Given the description of an element on the screen output the (x, y) to click on. 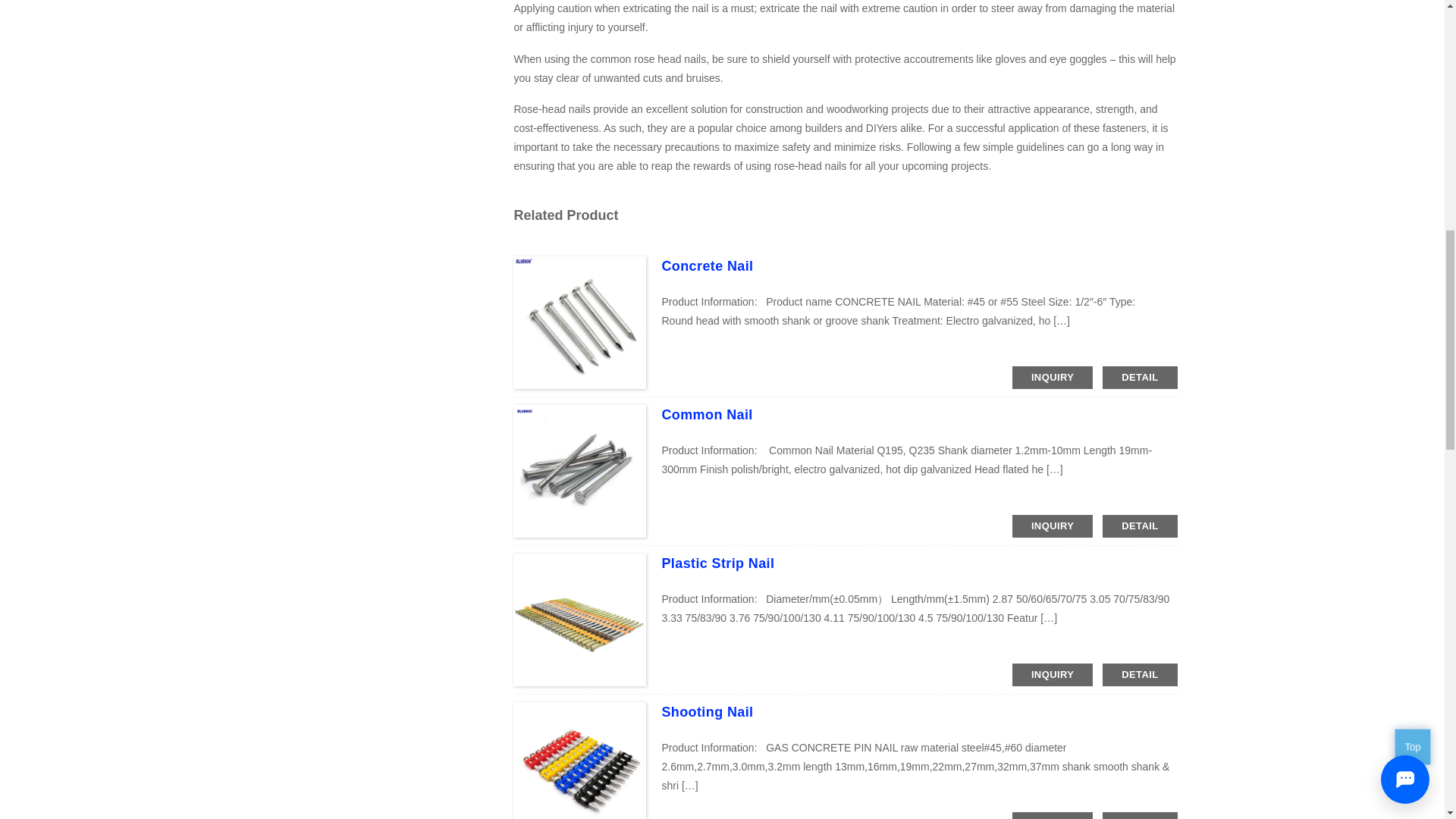
Common Nail (706, 414)
DETAIL (1139, 526)
INQUIRY (1052, 815)
INQUIRY (1052, 377)
DETAIL (1139, 674)
INQUIRY (1052, 674)
Shooting Nail (706, 711)
Plastic Strip Nail (717, 563)
Common Nail (706, 414)
Shooting Nail (706, 711)
